Given the description of an element on the screen output the (x, y) to click on. 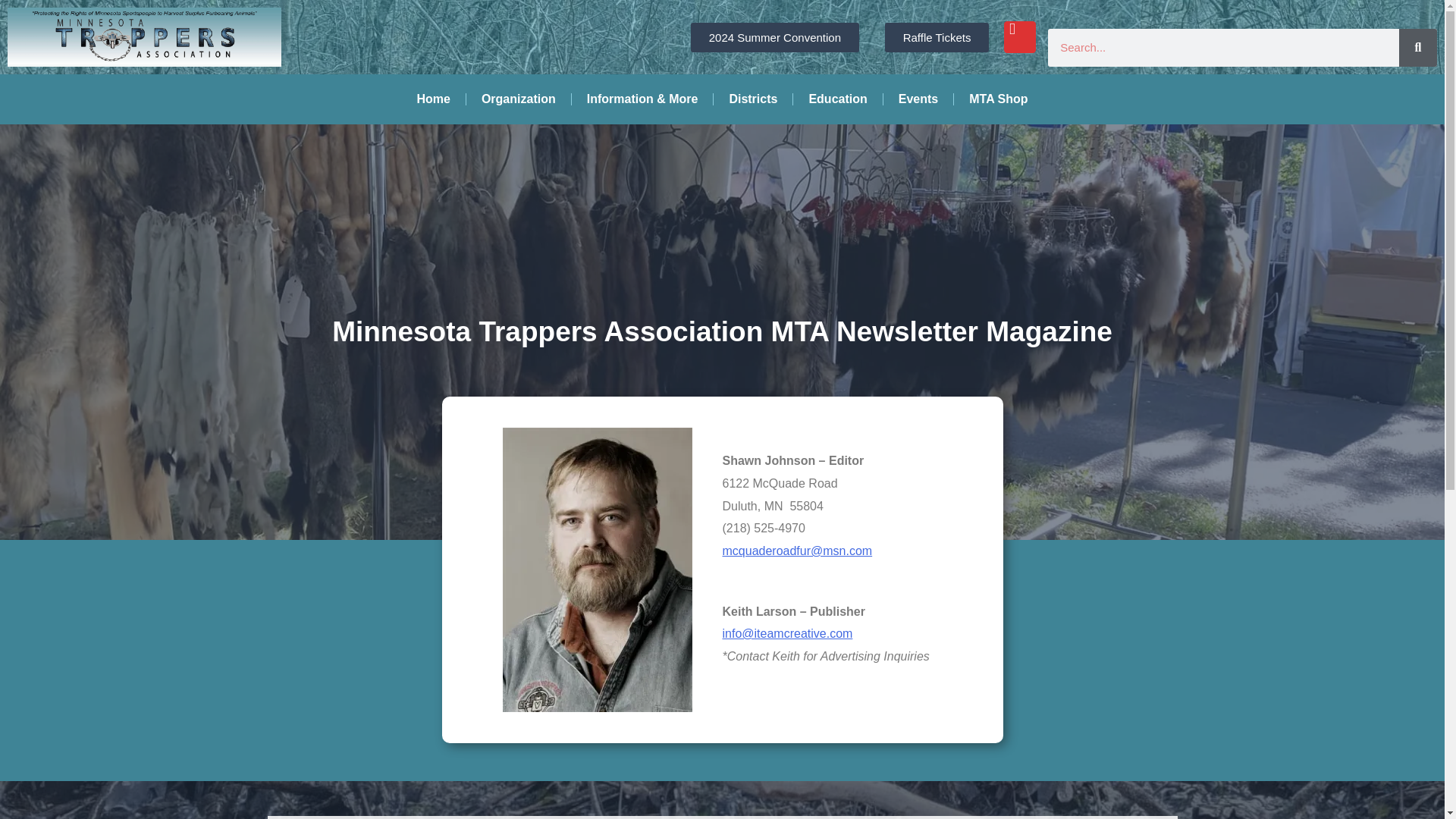
Search (1418, 47)
Facebook (1019, 37)
Home (432, 99)
Organization (517, 99)
Raffle Tickets (937, 37)
2024 Summer Convention (774, 37)
